Given the description of an element on the screen output the (x, y) to click on. 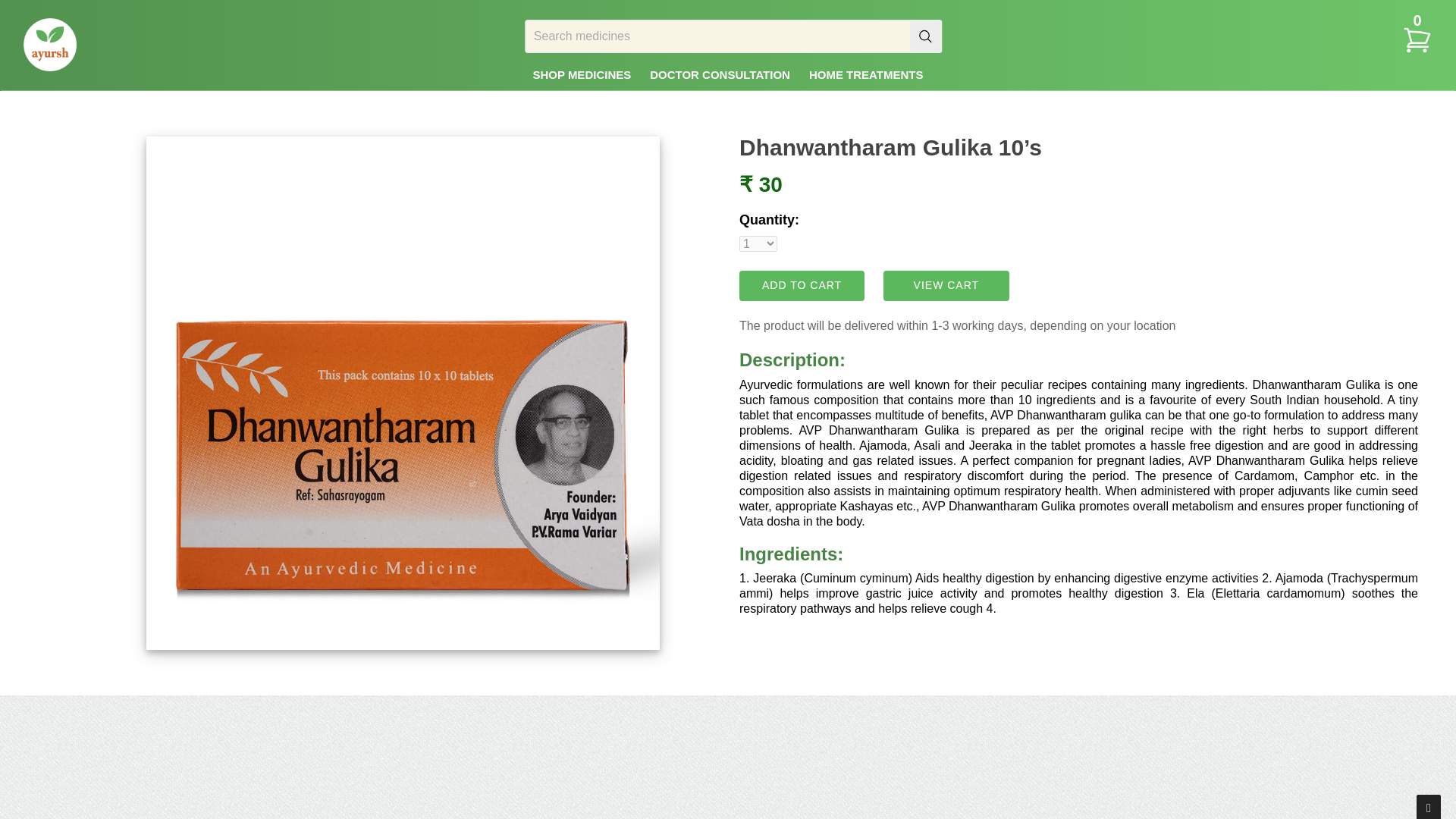
VIEW CART (946, 286)
Add to Cart (801, 286)
DOCTOR CONSULTATION (719, 74)
SHOP MEDICINES (581, 74)
HOME TREATMENTS (866, 74)
Add to Cart (801, 286)
